Given the description of an element on the screen output the (x, y) to click on. 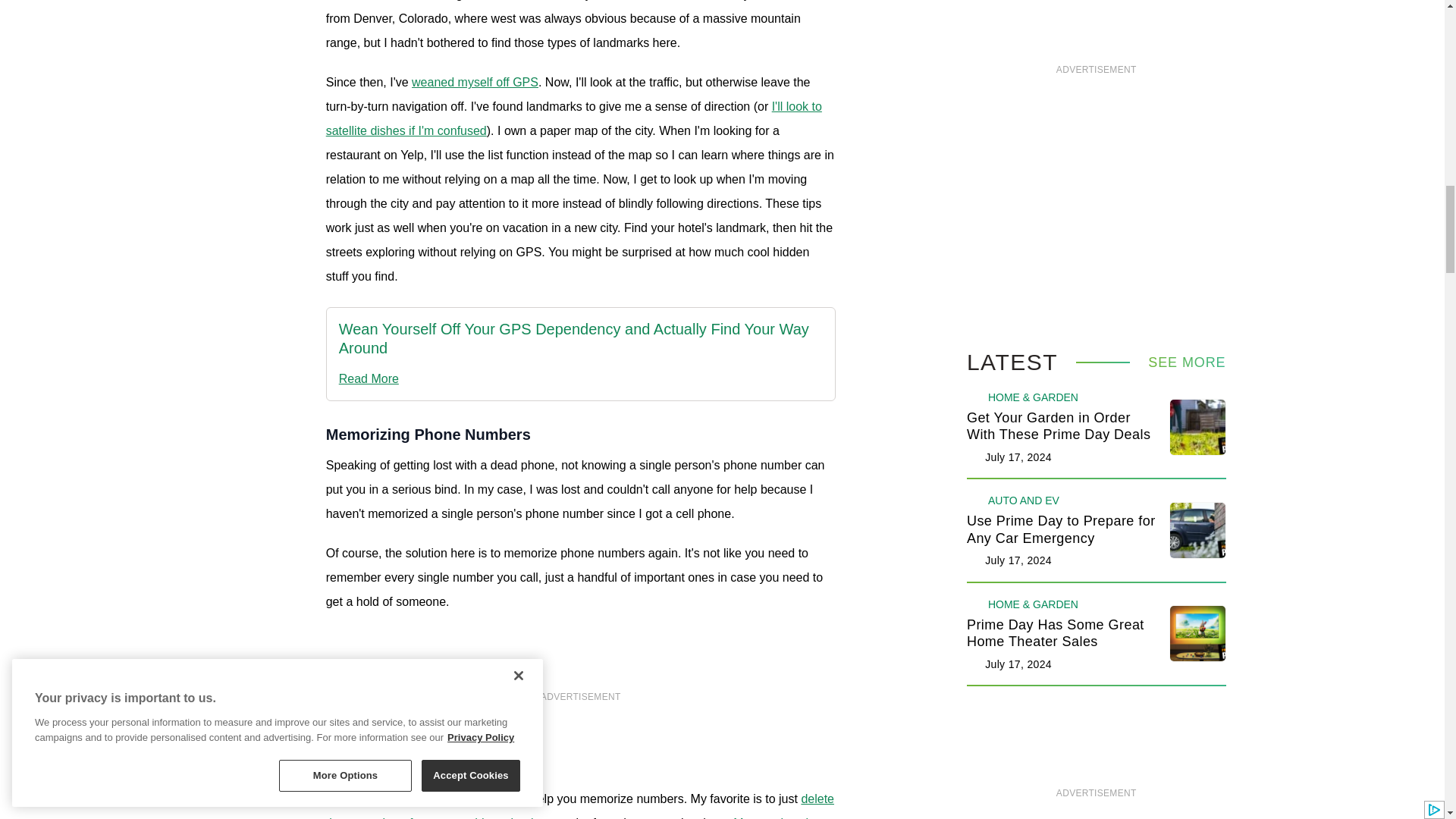
open in a new window (580, 379)
open in a new window (574, 118)
open in a new window (580, 805)
open in a new window (580, 338)
open in a new window (475, 82)
